Given the description of an element on the screen output the (x, y) to click on. 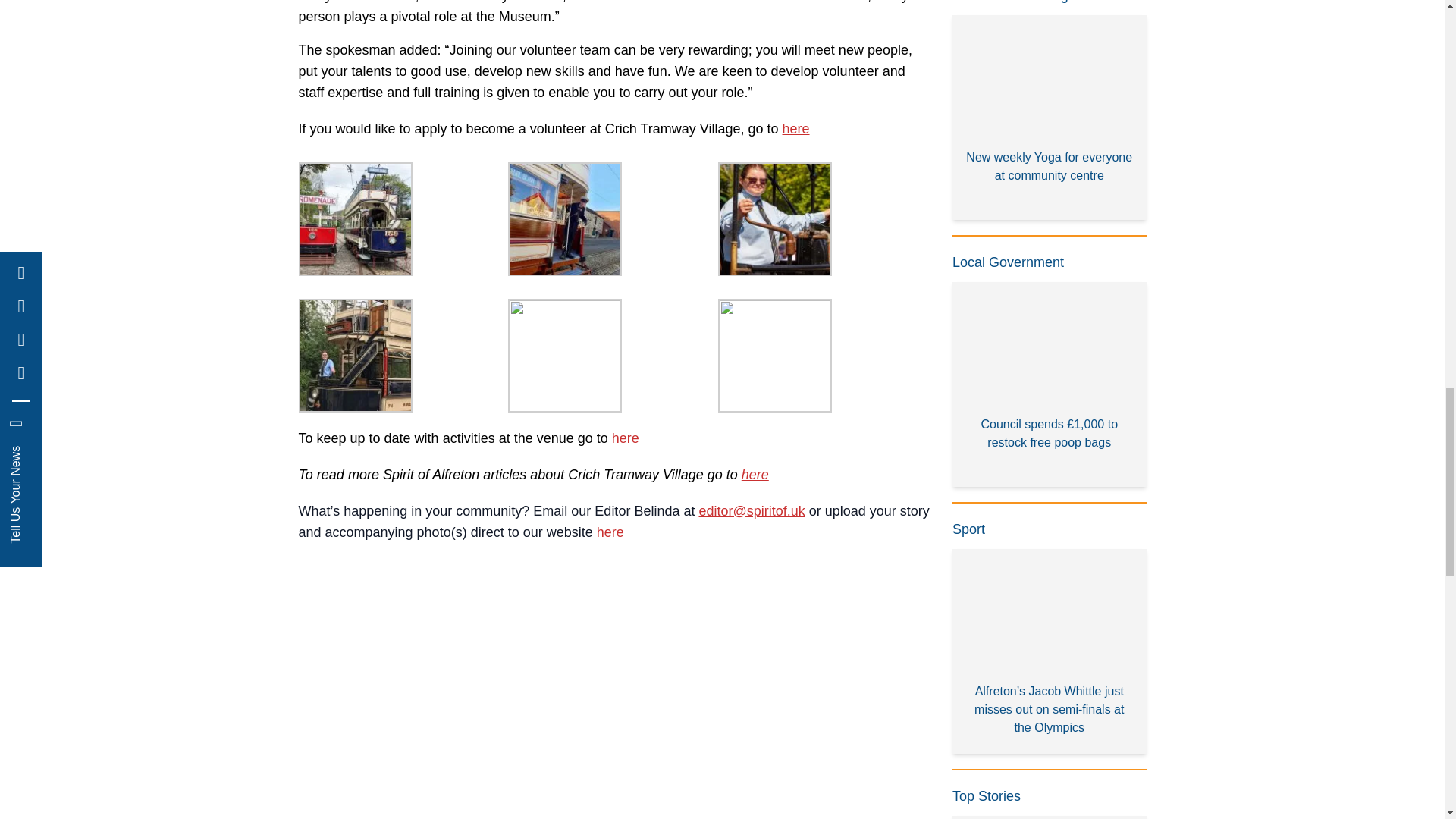
here (796, 128)
here (625, 437)
here (754, 474)
here (610, 531)
